Given the description of an element on the screen output the (x, y) to click on. 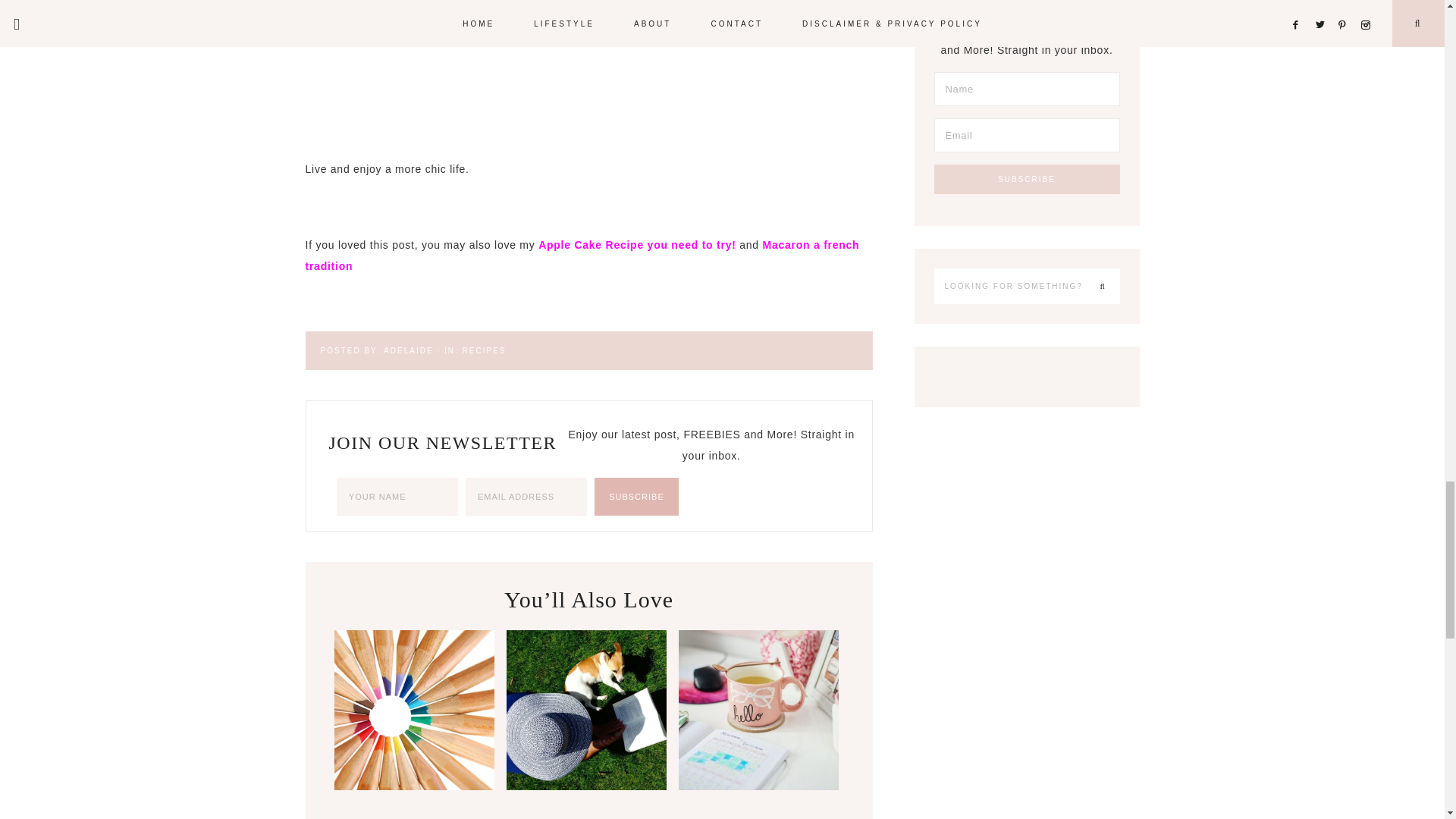
Subscribe (636, 496)
Macaron a french tradition (581, 254)
Apple Cake Recipe you need to try! (636, 244)
Subscribe (1026, 179)
RECIPES (484, 349)
Subscribe (636, 496)
ADELAIDE (408, 349)
